Given the description of an element on the screen output the (x, y) to click on. 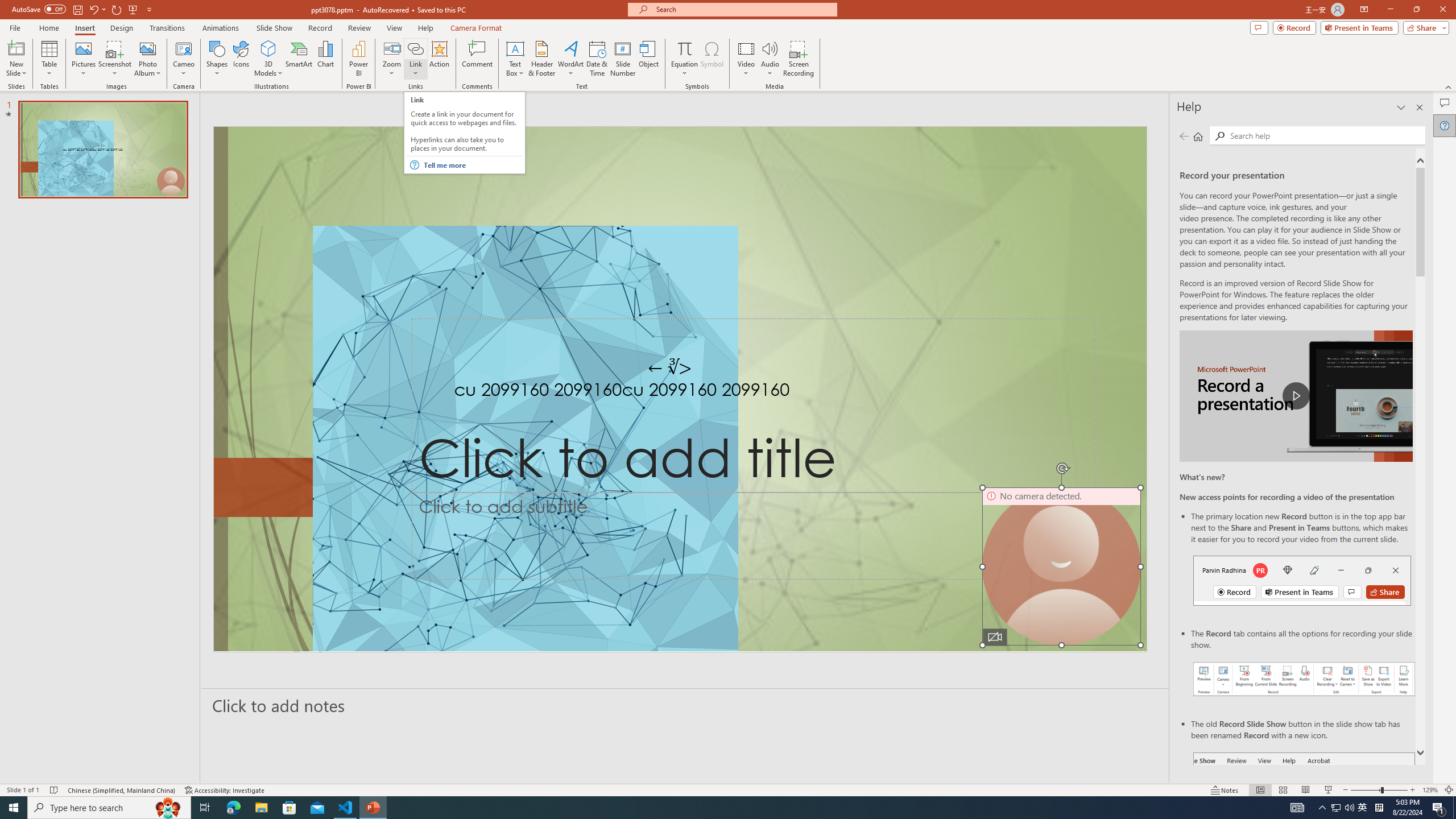
From Beginning (133, 9)
